Given the description of an element on the screen output the (x, y) to click on. 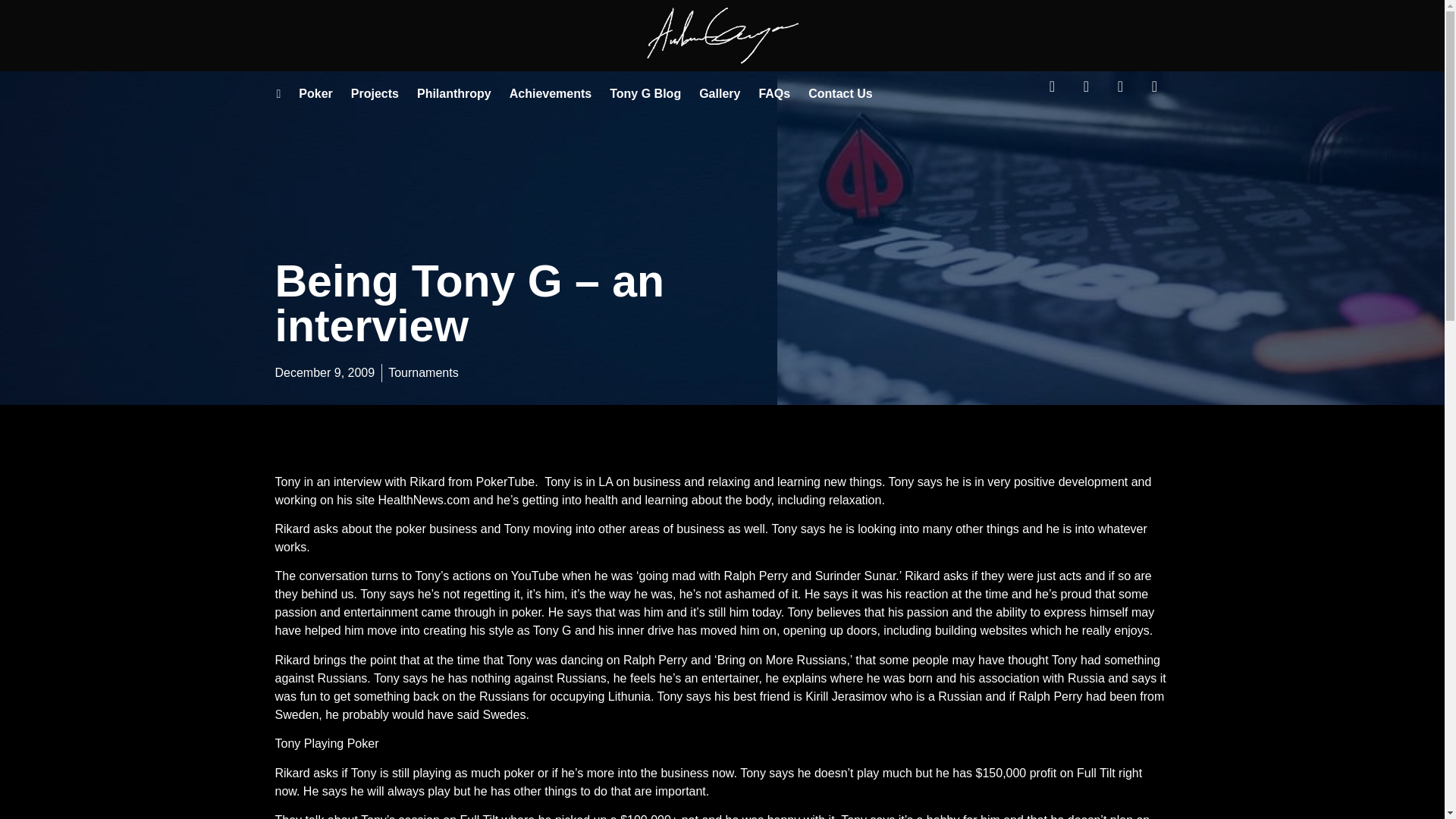
Tournaments (423, 372)
December 9, 2009 (324, 372)
Philanthropy (453, 93)
Achievements (550, 93)
Gallery (719, 93)
Poker (314, 93)
Contact Us (839, 93)
Projects (374, 93)
Tony G Blog (644, 93)
FAQs (774, 93)
